Given the description of an element on the screen output the (x, y) to click on. 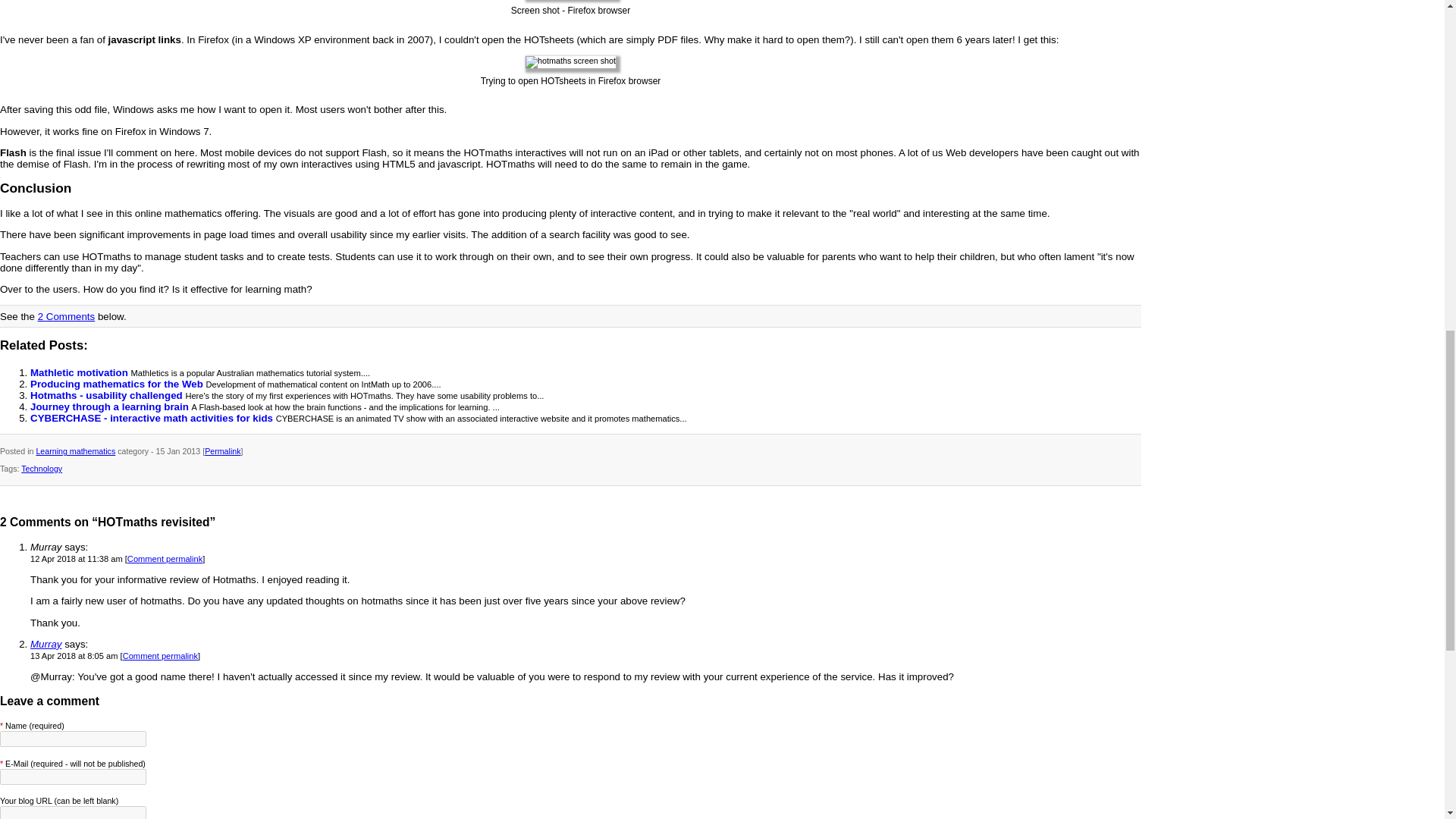
Comment permalink (165, 558)
Permalink: HOTmaths revisited (222, 450)
Technology (41, 468)
Link directly to this comment (165, 558)
Producing mathematics for the Web (118, 383)
Murray (45, 644)
Hotmaths - usability challenged (107, 395)
Producing mathematics for the Web (118, 383)
CYBERCHASE - interactive math activities for kids (153, 418)
Mathletic motivation (80, 372)
